Given the description of an element on the screen output the (x, y) to click on. 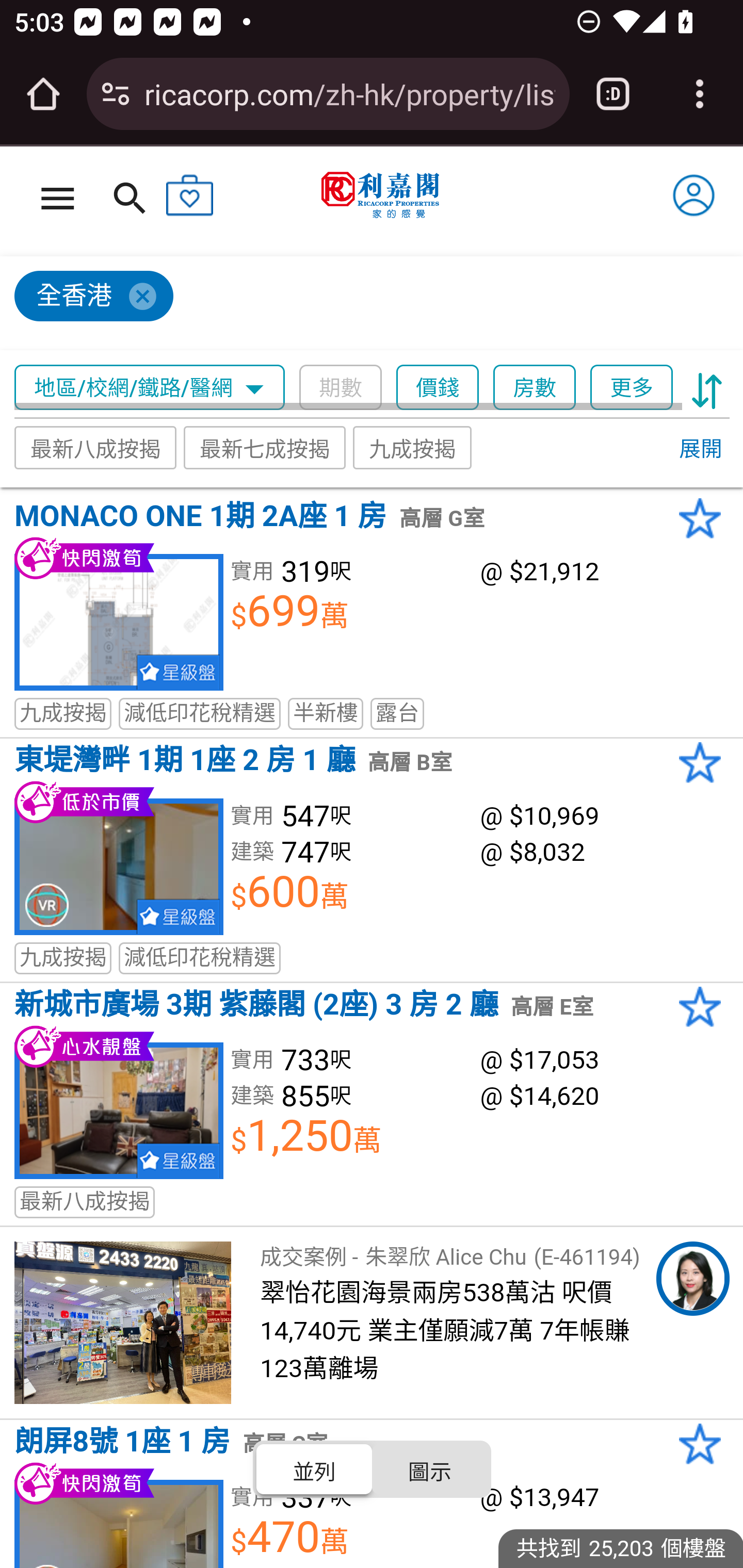
Open the home page (43, 93)
Connection is secure (115, 93)
Switch or close tabs (612, 93)
Customize and control Google Chrome (699, 93)
ricacorp.com/zh-hk/property/list/buy (349, 92)
全香港 (363, 304)
地區/校網/鐵路/醫網 (149, 387)
期數 (339, 387)
價錢 (437, 387)
房數 (535, 387)
更多 (630, 387)
sort (706, 387)
最新八成按揭 (96, 446)
最新七成按揭 (264, 446)
九成按揭 (412, 446)
並列 (314, 1468)
圖示 (429, 1468)
